Given the description of an element on the screen output the (x, y) to click on. 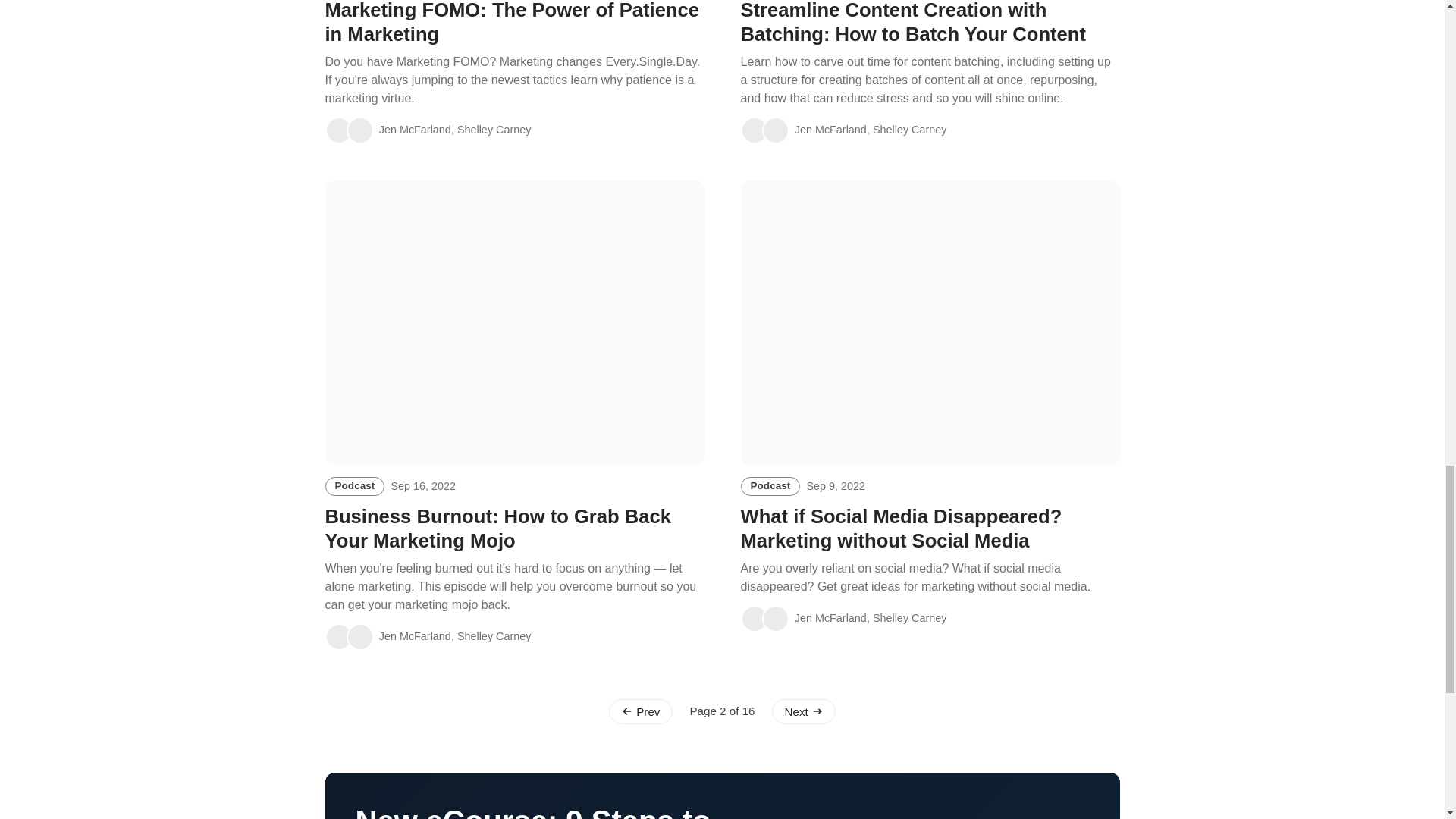
Jen McFarland (753, 130)
Jen McFarland (338, 130)
Shelley Carney (359, 636)
Jen McFarland (338, 636)
Shelley Carney (775, 130)
Shelley Carney (359, 130)
